Given the description of an element on the screen output the (x, y) to click on. 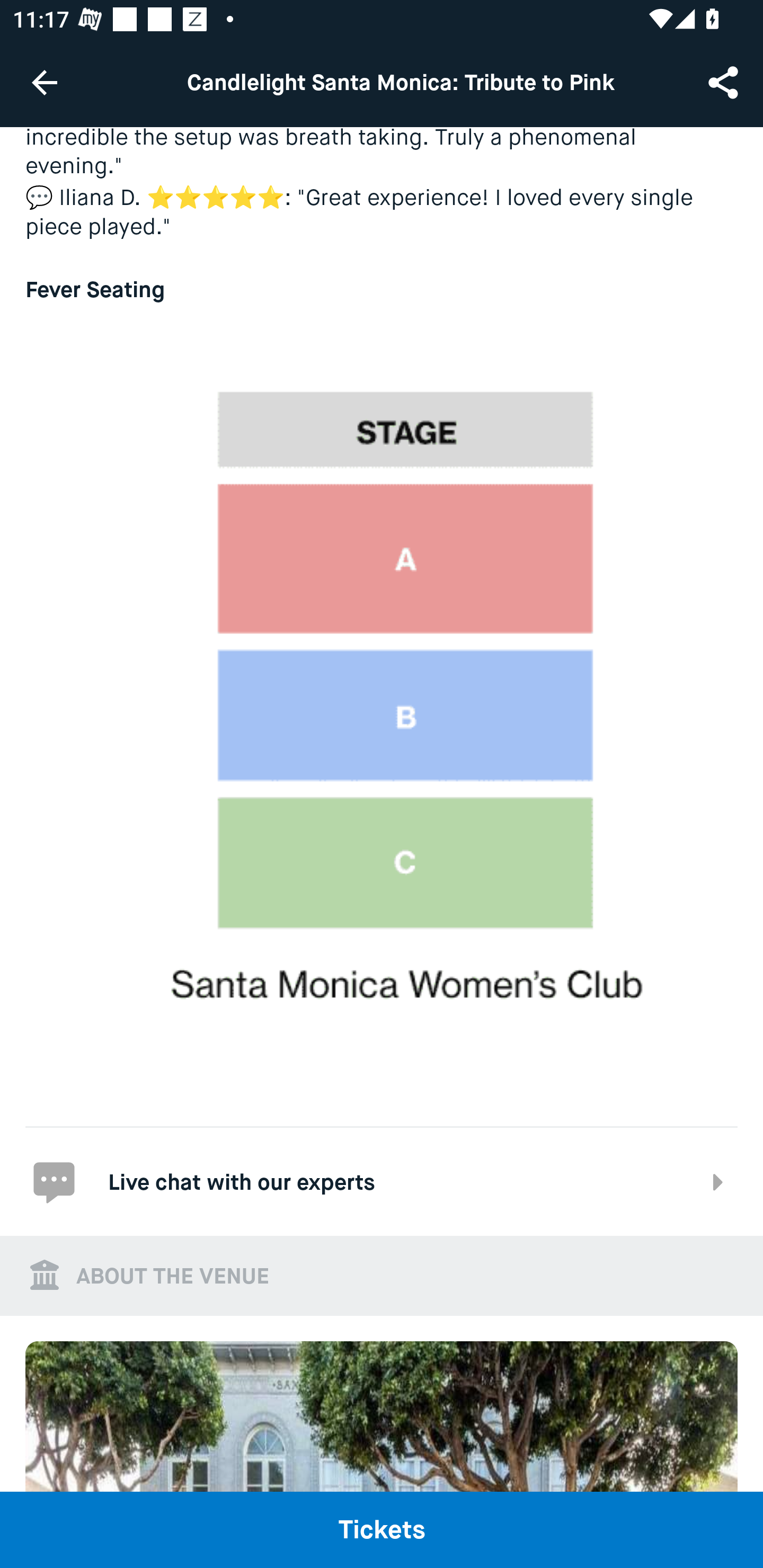
Navigate up (44, 82)
Share (724, 81)
Live chat with our experts (381, 1180)
Tickets (381, 1529)
